Given the description of an element on the screen output the (x, y) to click on. 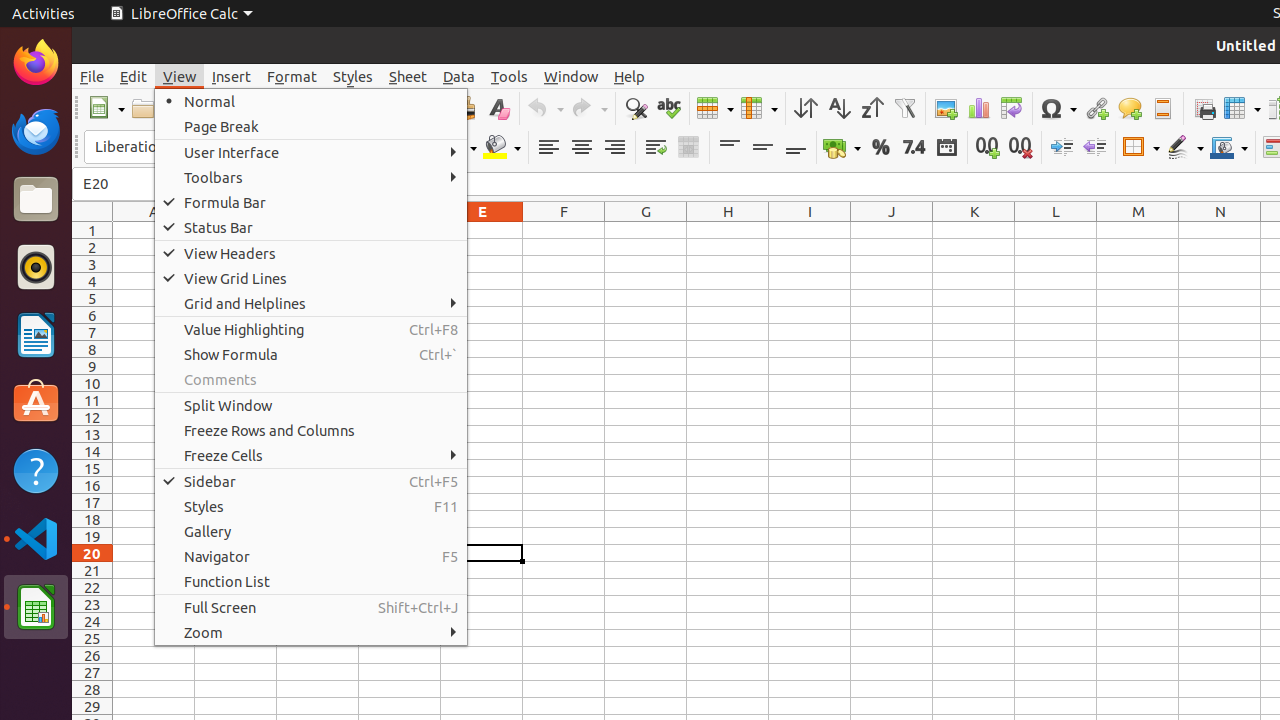
LibreOffice Writer Element type: push-button (36, 334)
Column Element type: push-button (759, 108)
Wrap Text Element type: push-button (655, 147)
A1 Element type: table-cell (154, 230)
Ubuntu Software Element type: push-button (36, 402)
